Given the description of an element on the screen output the (x, y) to click on. 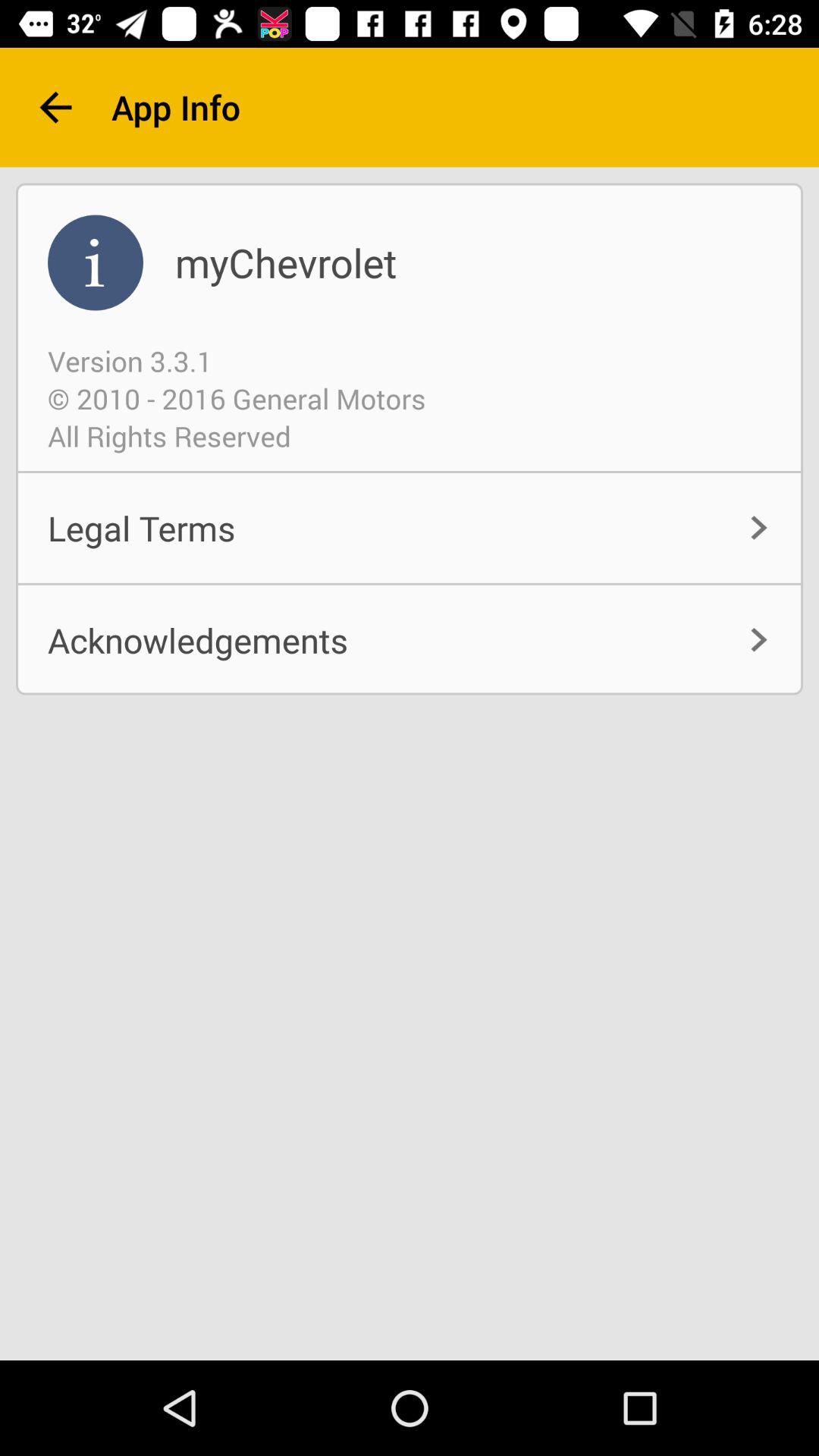
tap legal terms icon (409, 527)
